Given the description of an element on the screen output the (x, y) to click on. 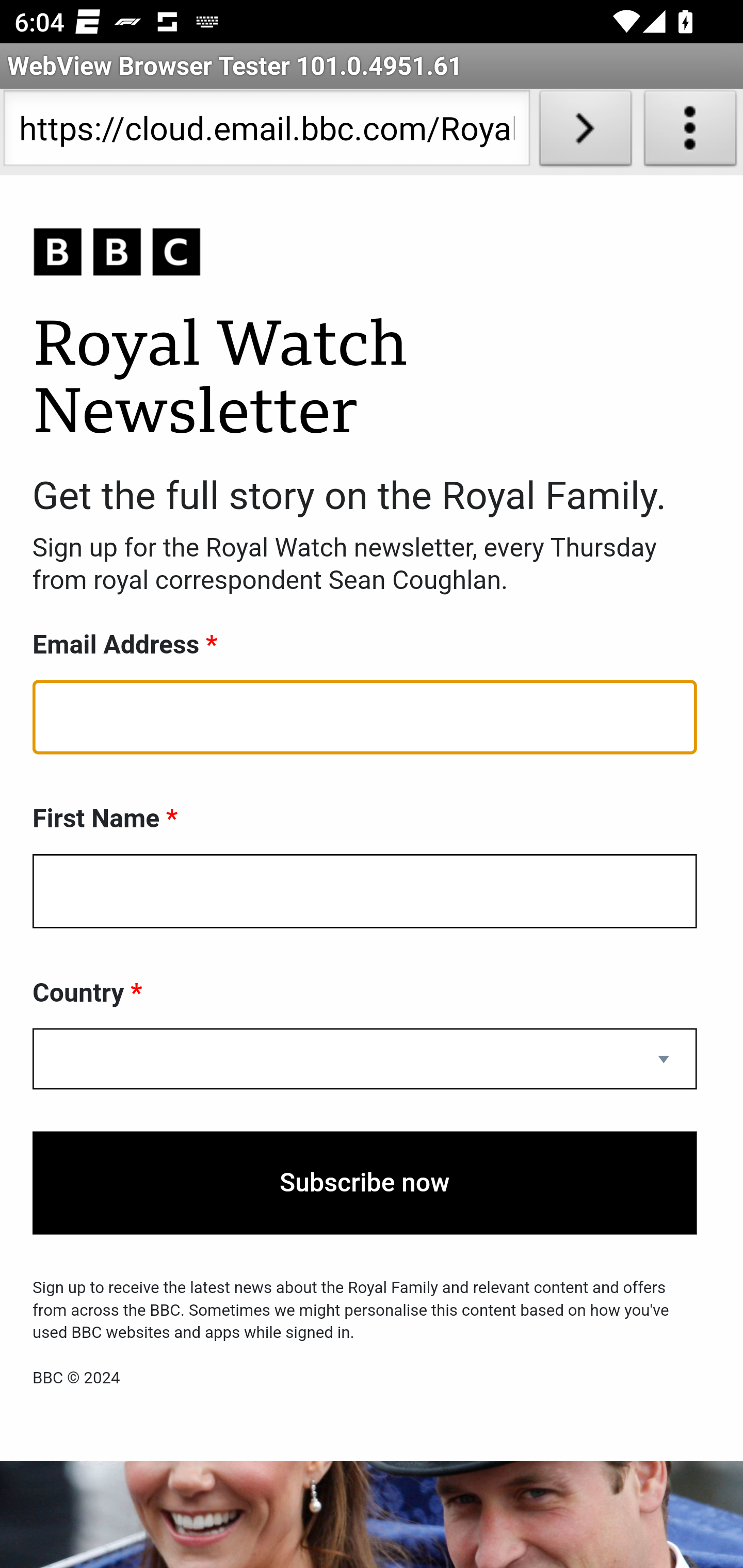
Load URL (585, 132)
About WebView (690, 132)
BBC (364, 253)
Subscribe now (364, 1182)
